Given the description of an element on the screen output the (x, y) to click on. 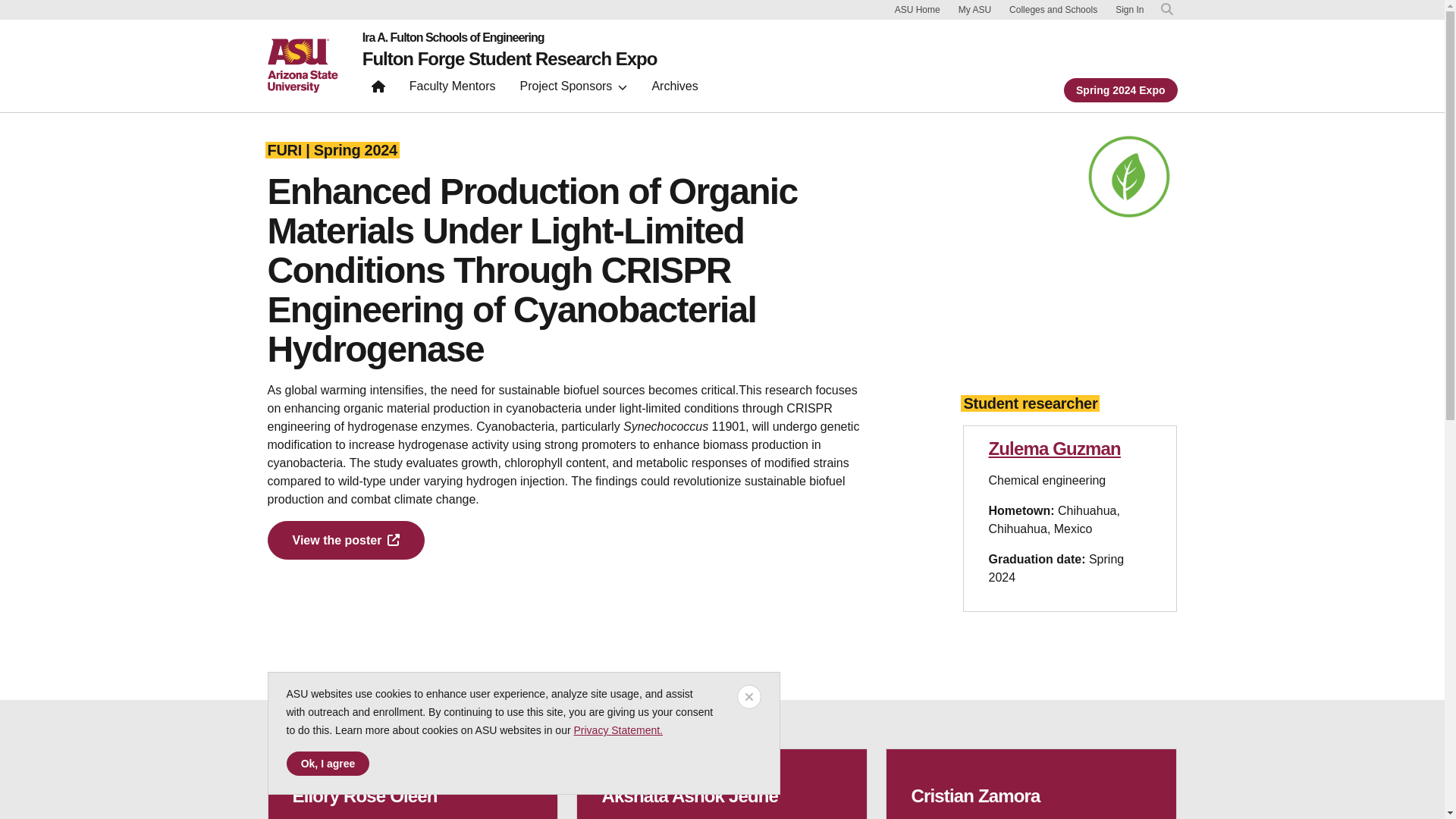
Colleges and Schools (1053, 9)
ASU Home (917, 9)
Fulton Forge Student Research Expo home page (510, 58)
Ira A. Fulton Schools of Engineering home page (510, 37)
Faculty Mentors (452, 89)
View the poster (345, 539)
Project Sponsors (574, 89)
ASU home page (301, 65)
Faculty Mentors (452, 89)
Ira A. Fulton Schools of Engineering (510, 37)
